Given the description of an element on the screen output the (x, y) to click on. 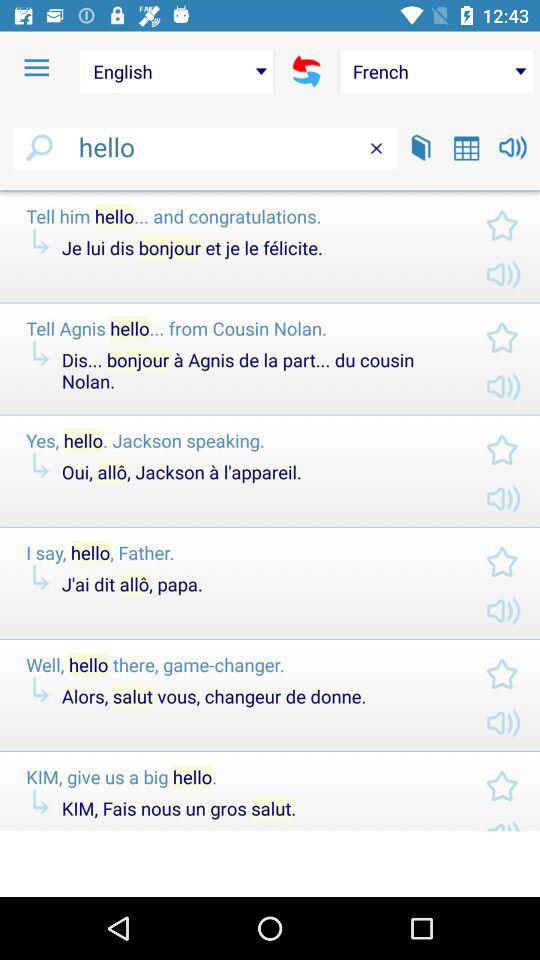
open calendar (466, 148)
